Given the description of an element on the screen output the (x, y) to click on. 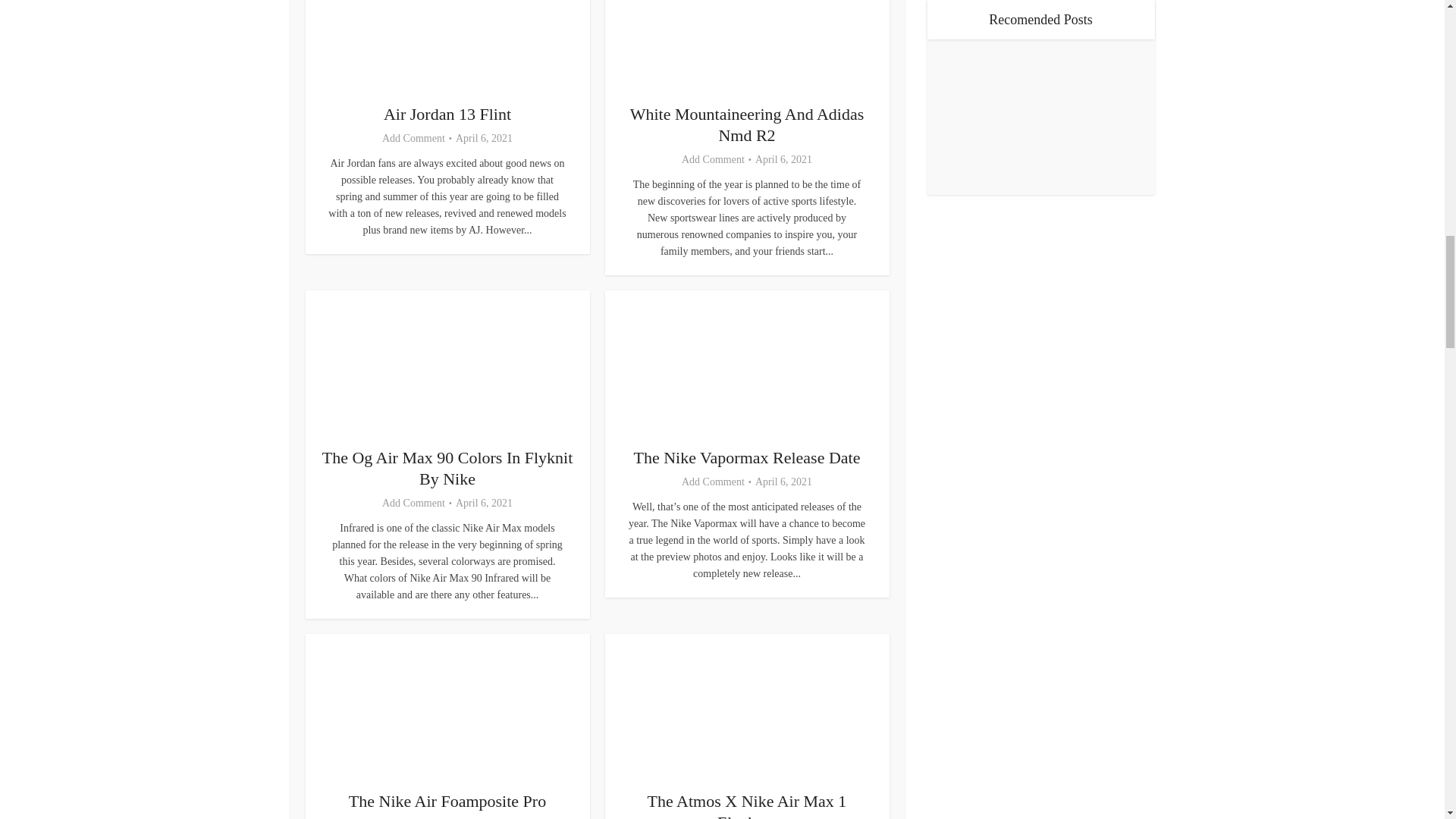
The Og Air Max 90 Colors In Flyknit By Nike (447, 467)
The Nike Vapormax Release Date (746, 456)
Add Comment (413, 503)
The Nike Air Foamposite Pro (447, 800)
The Nike Vapormax Release Date (746, 456)
Air Jordan 13 Flint (447, 113)
The Og Air Max 90 Colors In Flyknit By Nike (447, 467)
Air Jordan 13 Flint (447, 113)
White Mountaineering And Adidas Nmd R2 (747, 124)
Add Comment (712, 160)
